Given the description of an element on the screen output the (x, y) to click on. 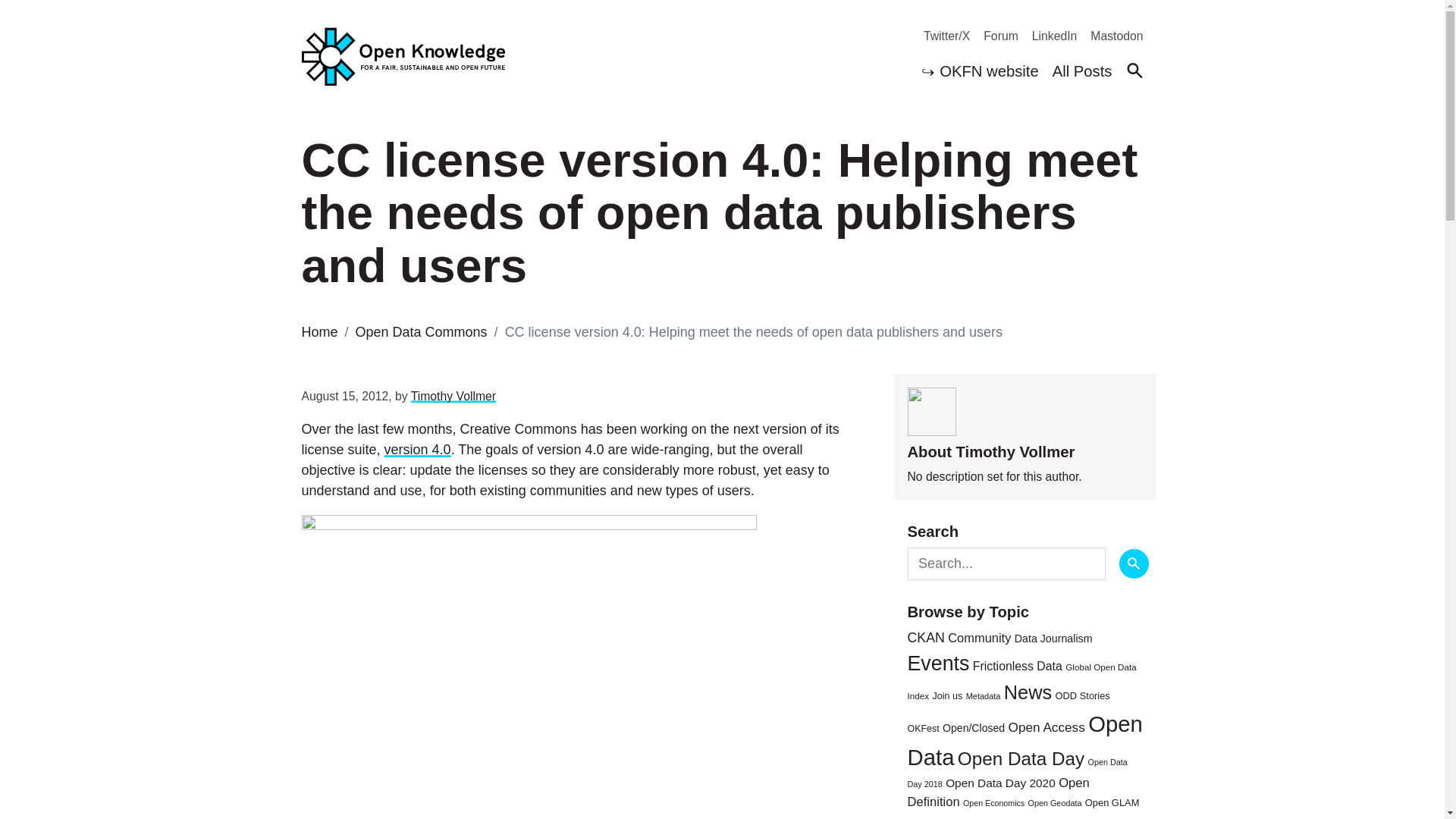
version 4.0 (417, 449)
Forum (993, 36)
Mastodon (1109, 36)
All Posts (1082, 72)
Timothy Vollmer (453, 395)
Posts by Timothy Vollmer (453, 395)
LinkedIn (1047, 36)
Open Data Commons (421, 331)
Home (319, 331)
